Given the description of an element on the screen output the (x, y) to click on. 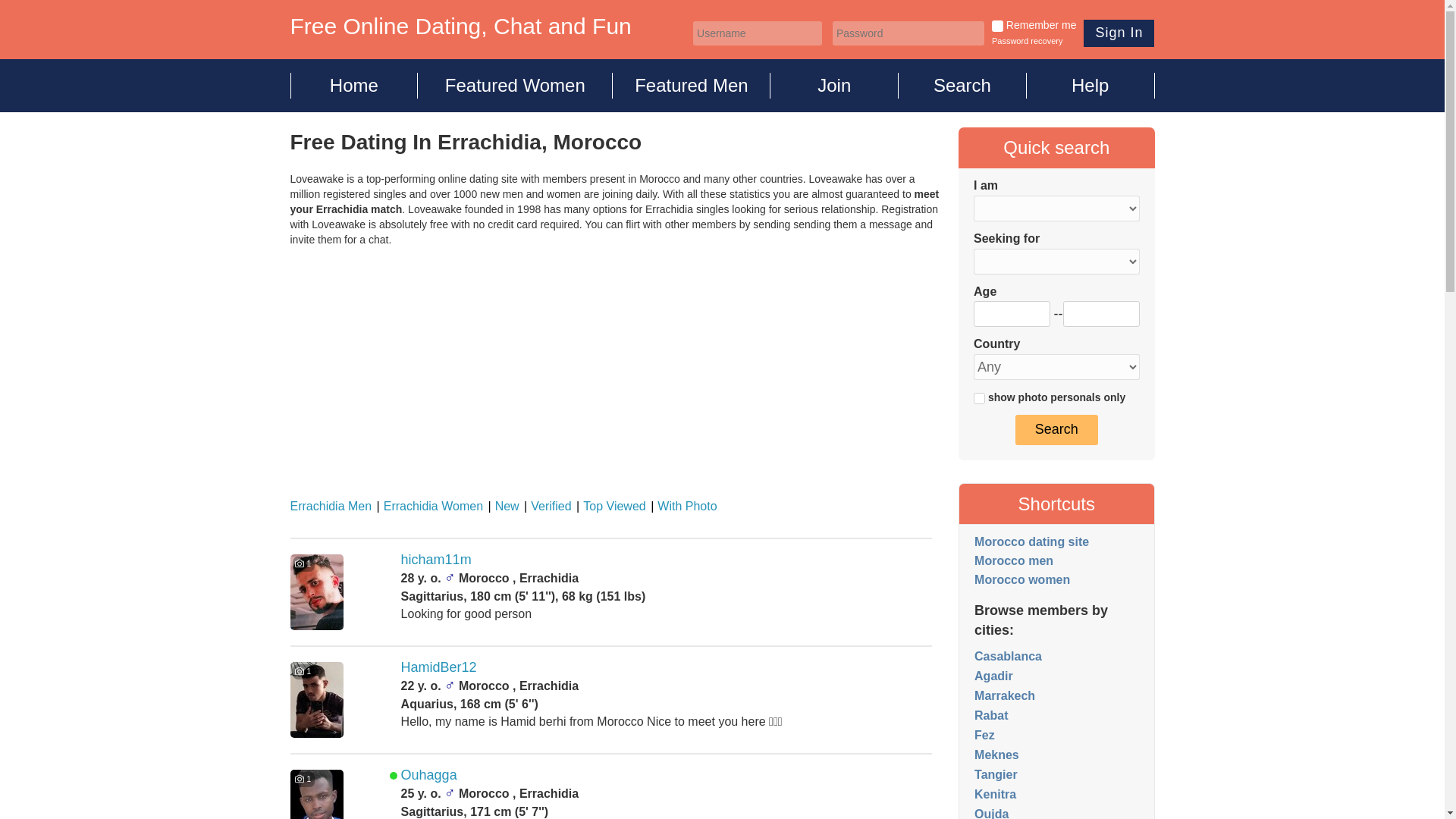
1 (997, 25)
Top Viewed (610, 505)
With Photo (682, 505)
Help (1090, 85)
Verified (547, 505)
Featured Men (691, 85)
Join (834, 85)
1 (979, 398)
Errachidia Men (330, 505)
Errachidia Women (429, 505)
